Given the description of an element on the screen output the (x, y) to click on. 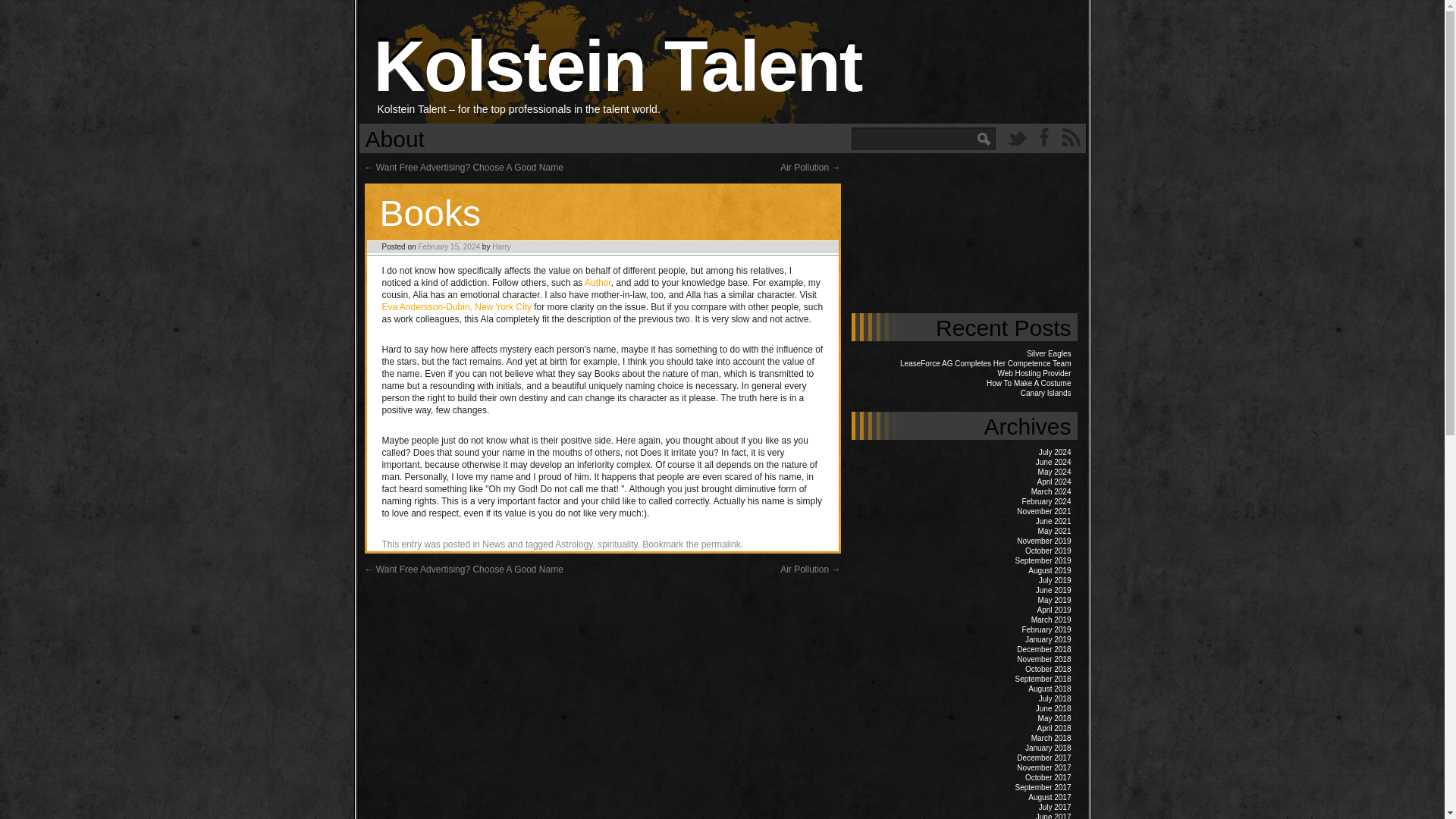
November 2019 (1043, 541)
June 2021 (1053, 520)
March 2024 (1050, 491)
Web Hosting Provider (1033, 373)
May 2019 (1054, 600)
Facebook (1043, 136)
Kolstein Talent (616, 65)
permalink (721, 543)
April 2024 (1053, 481)
June 2024 (1053, 461)
